Given the description of an element on the screen output the (x, y) to click on. 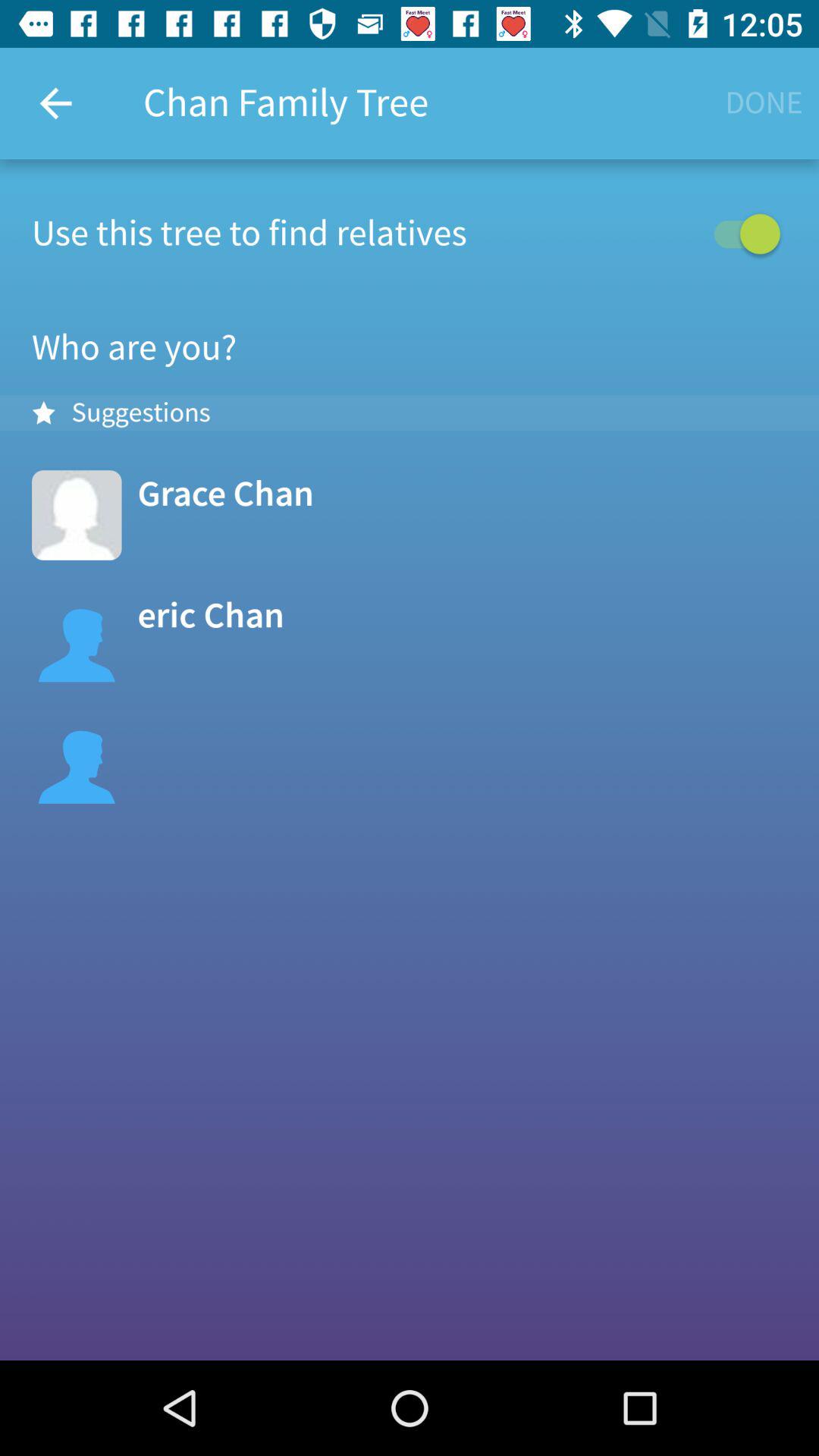
click on use this tree to find relatives (409, 233)
select the button below time 1205 (764, 103)
click on the person icon which is on the left of eric chan (76, 636)
click on the profile icon which is below the eric chan profile (76, 758)
select the profile which is to the immediate left of grace chan (76, 515)
